Given the description of an element on the screen output the (x, y) to click on. 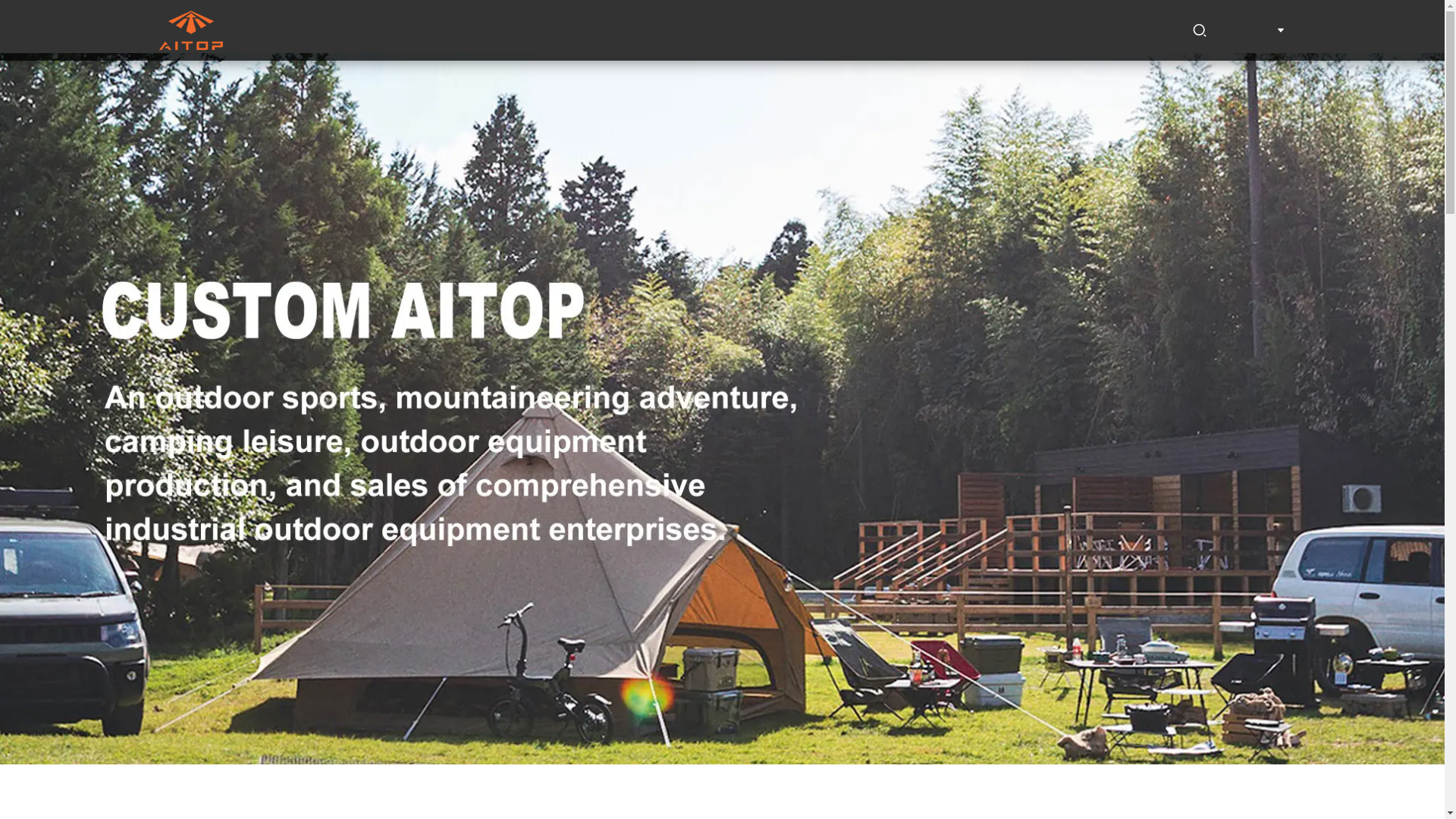
Explore Aitop (759, 30)
Products (611, 30)
products (611, 30)
logo (190, 30)
